Given the description of an element on the screen output the (x, y) to click on. 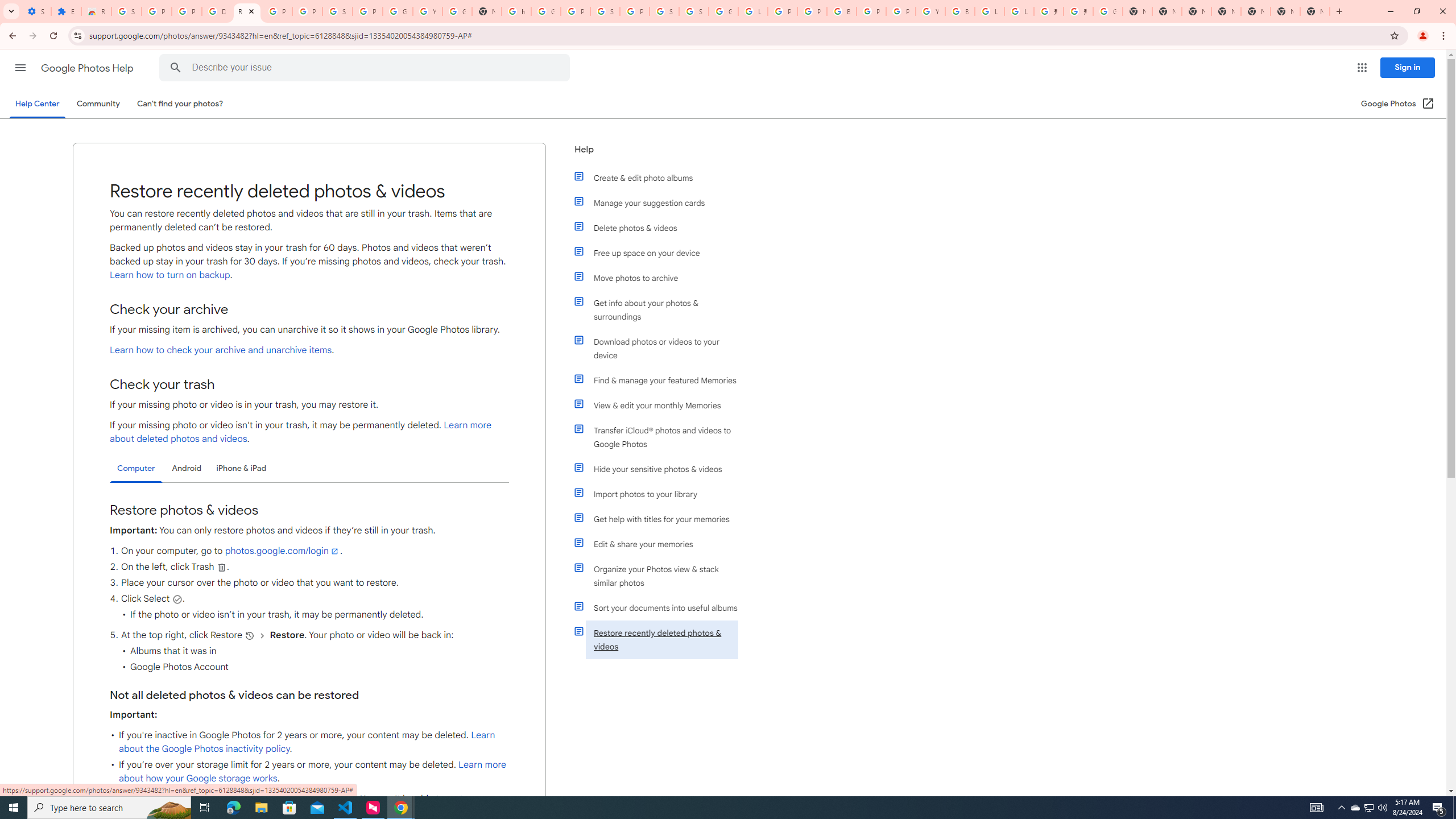
Download photos or videos to your device (661, 348)
Google Photos Help (87, 68)
Help (656, 153)
Create & edit photo albums (661, 177)
Sort your documents into useful albums (661, 607)
